Given the description of an element on the screen output the (x, y) to click on. 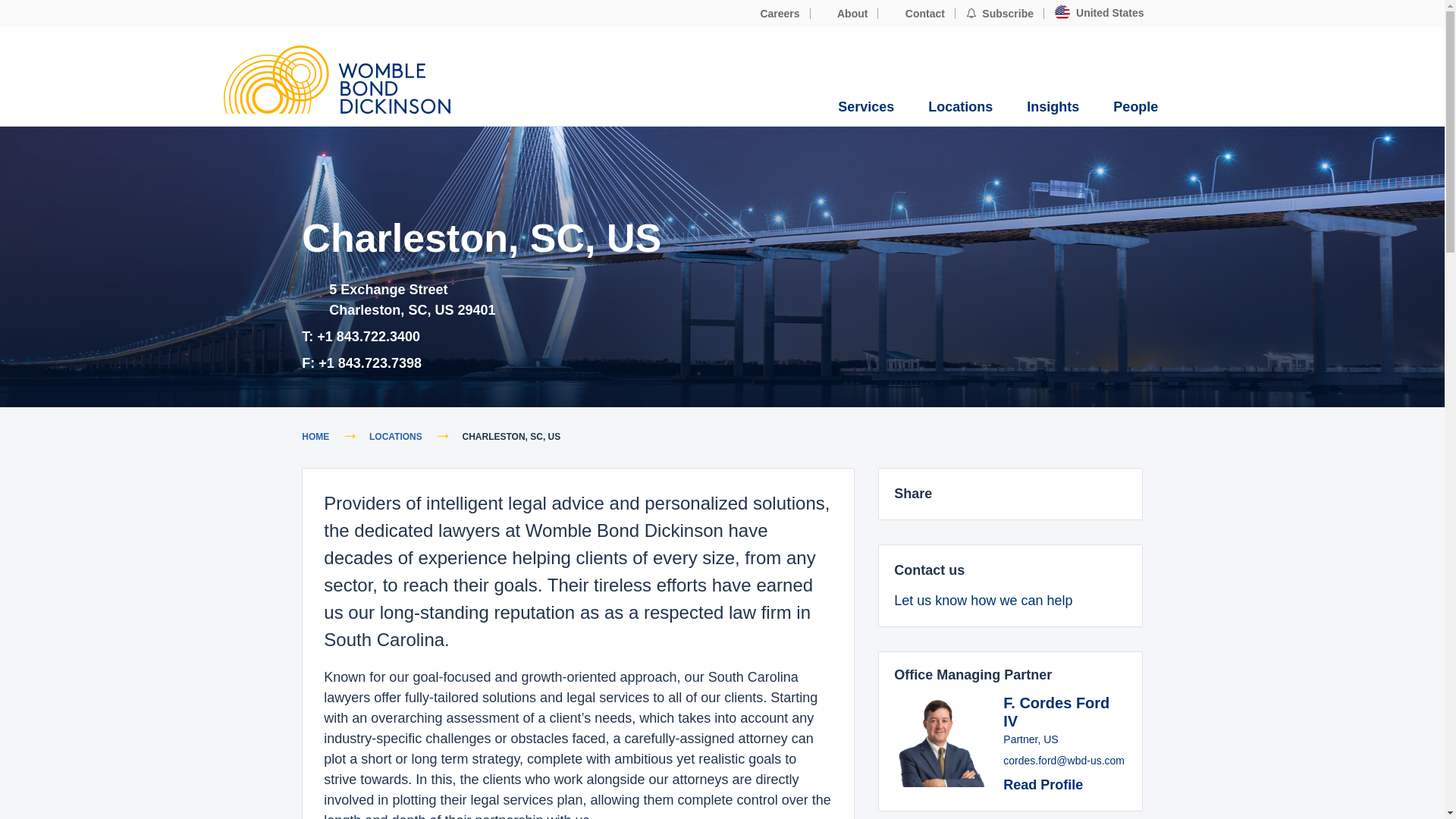
Services (865, 107)
Careers (771, 13)
Get in touch (996, 600)
United States (1098, 13)
About (844, 13)
Contact (916, 13)
Locations (960, 107)
